Given the description of an element on the screen output the (x, y) to click on. 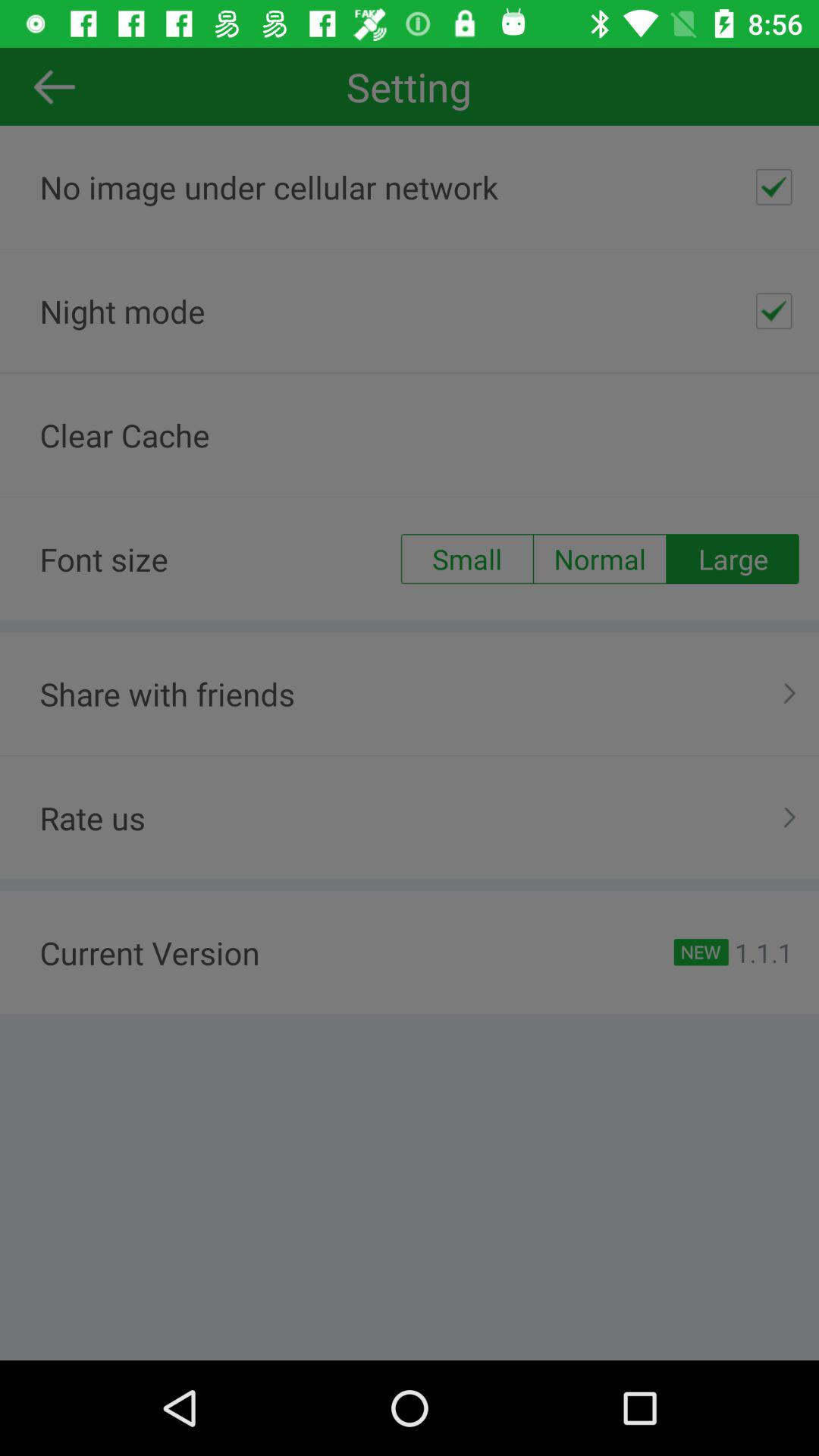
choose app next to the font size icon (466, 559)
